Given the description of an element on the screen output the (x, y) to click on. 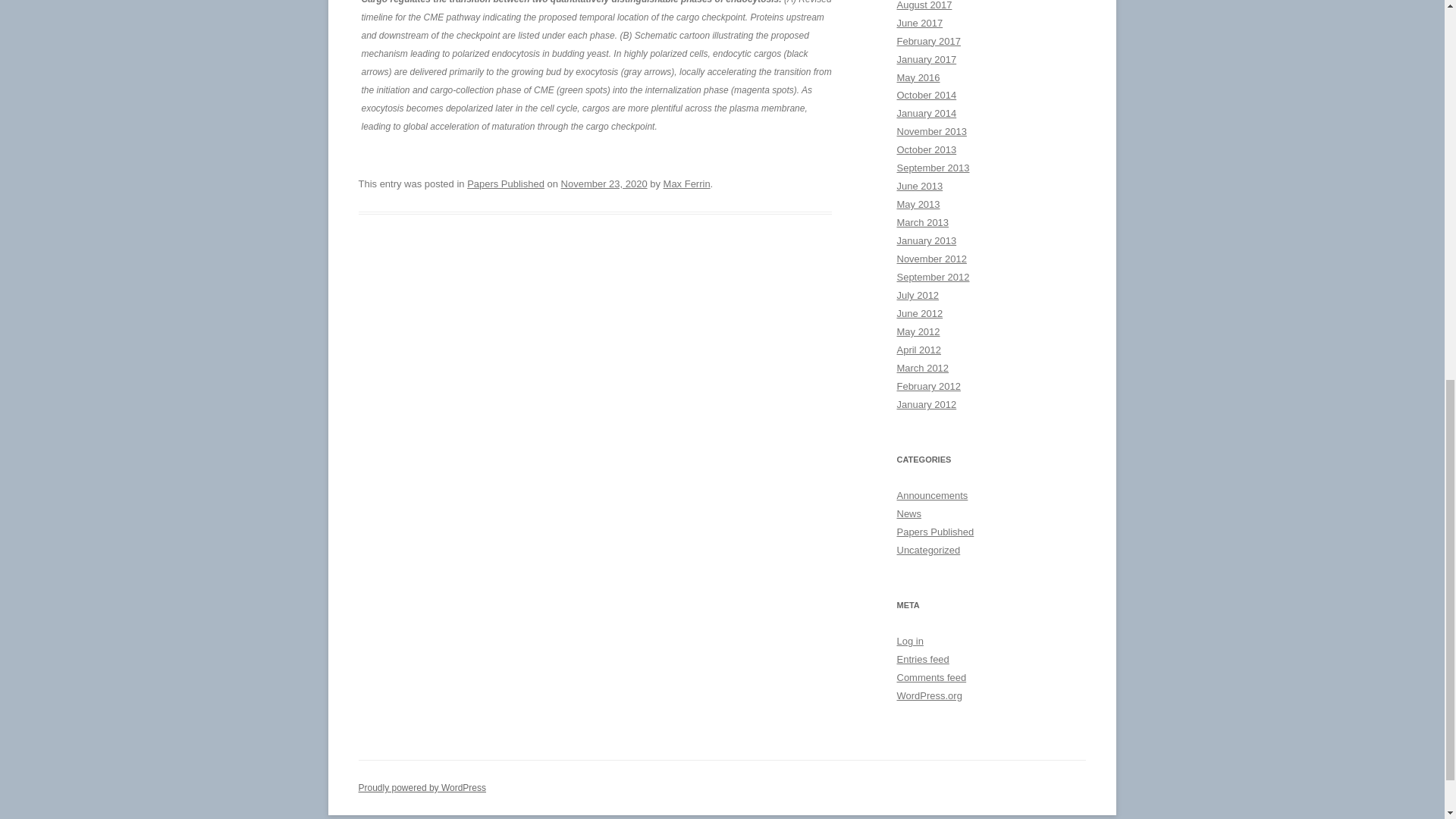
Papers Published (505, 183)
8:16 pm (603, 183)
Max Ferrin (686, 183)
Semantic Personal Publishing Platform (422, 787)
View all posts by Max Ferrin (686, 183)
November 23, 2020 (603, 183)
